Given the description of an element on the screen output the (x, y) to click on. 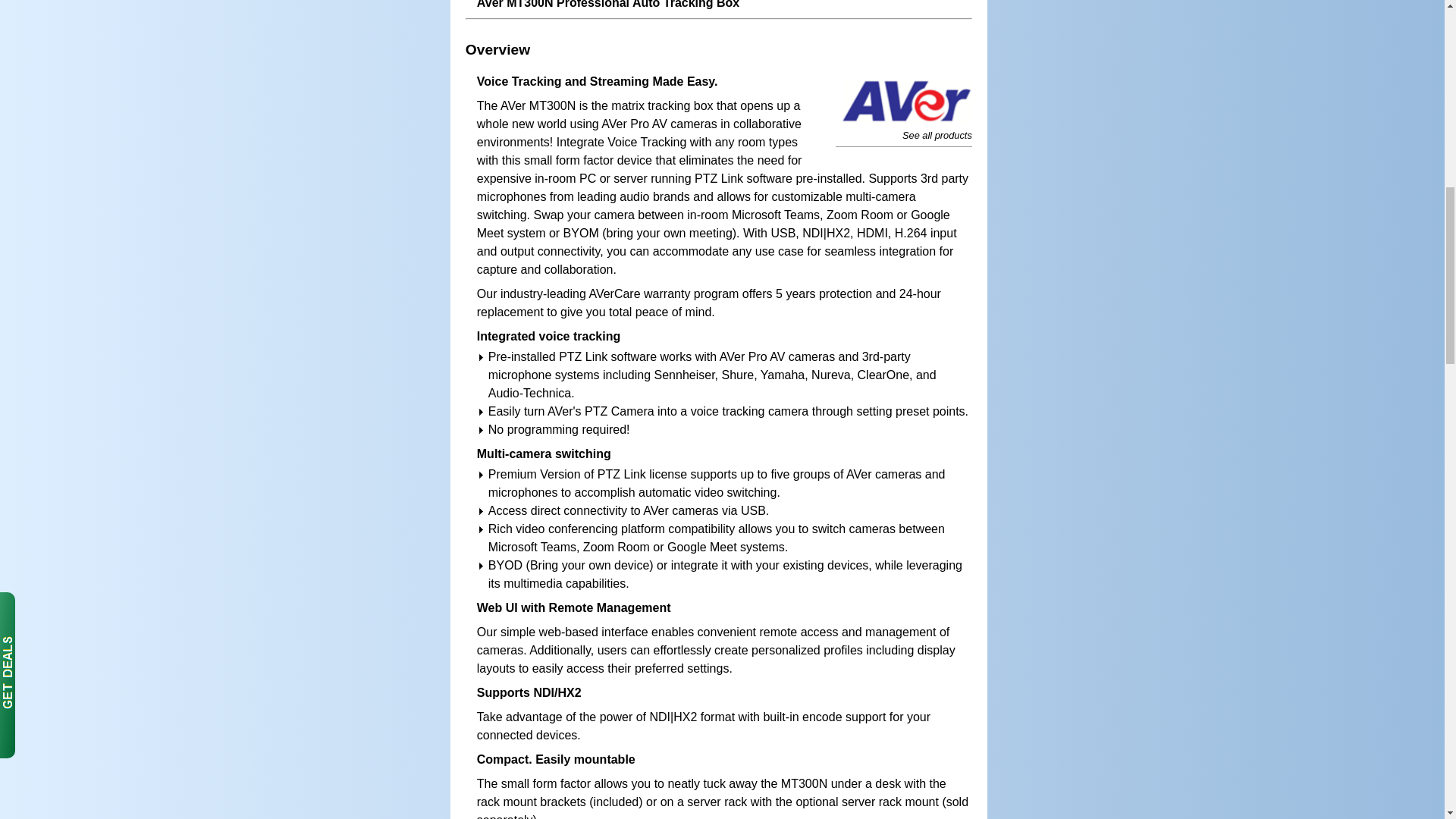
See all products by AVer Information (903, 100)
